Given the description of an element on the screen output the (x, y) to click on. 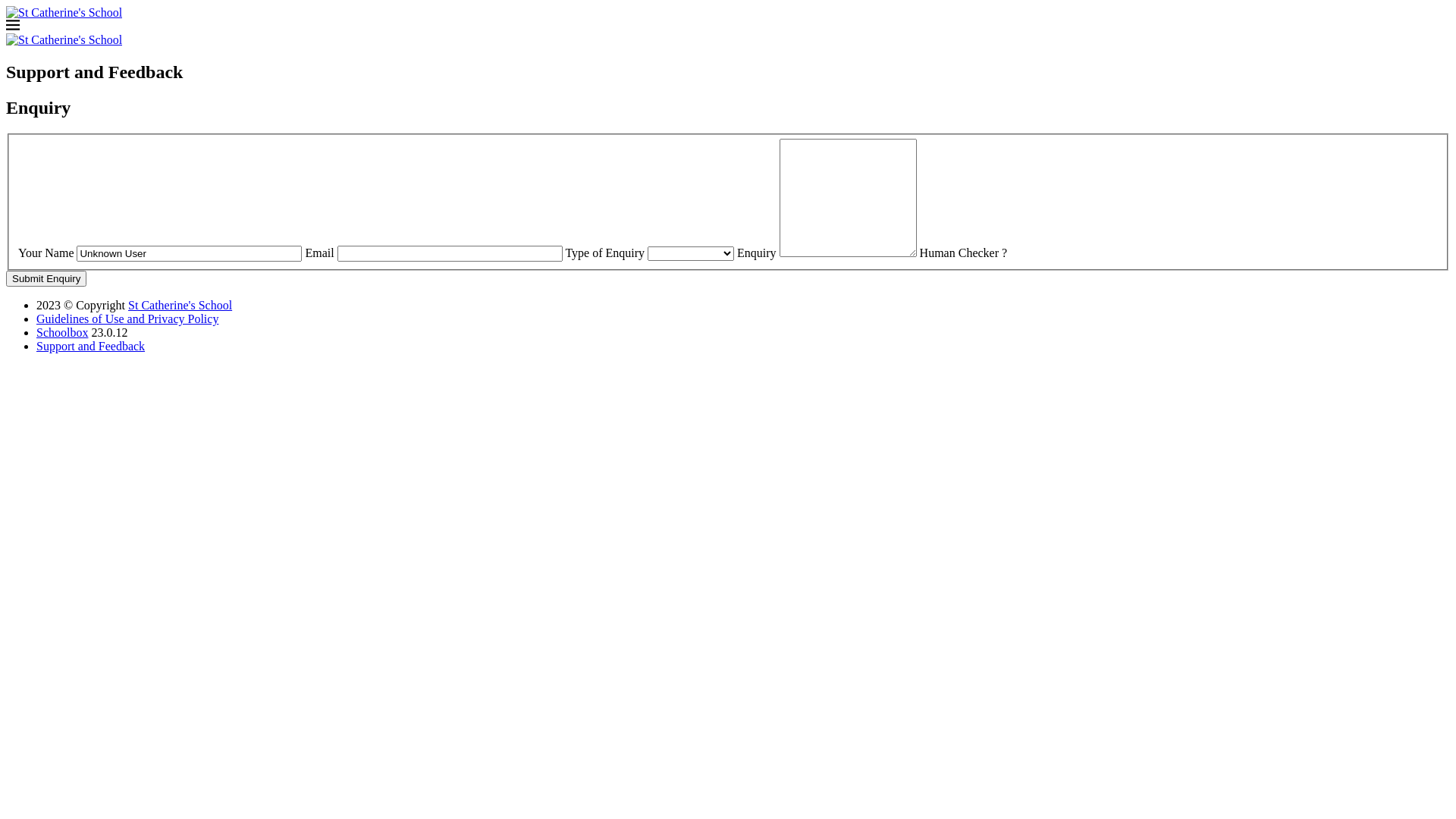
Submit Enquiry Element type: text (46, 278)
St Catherine's School Element type: text (180, 304)
Support and Feedback Element type: text (90, 345)
Schoolbox Element type: text (61, 332)
Guidelines of Use and Privacy Policy Element type: text (127, 318)
